Given the description of an element on the screen output the (x, y) to click on. 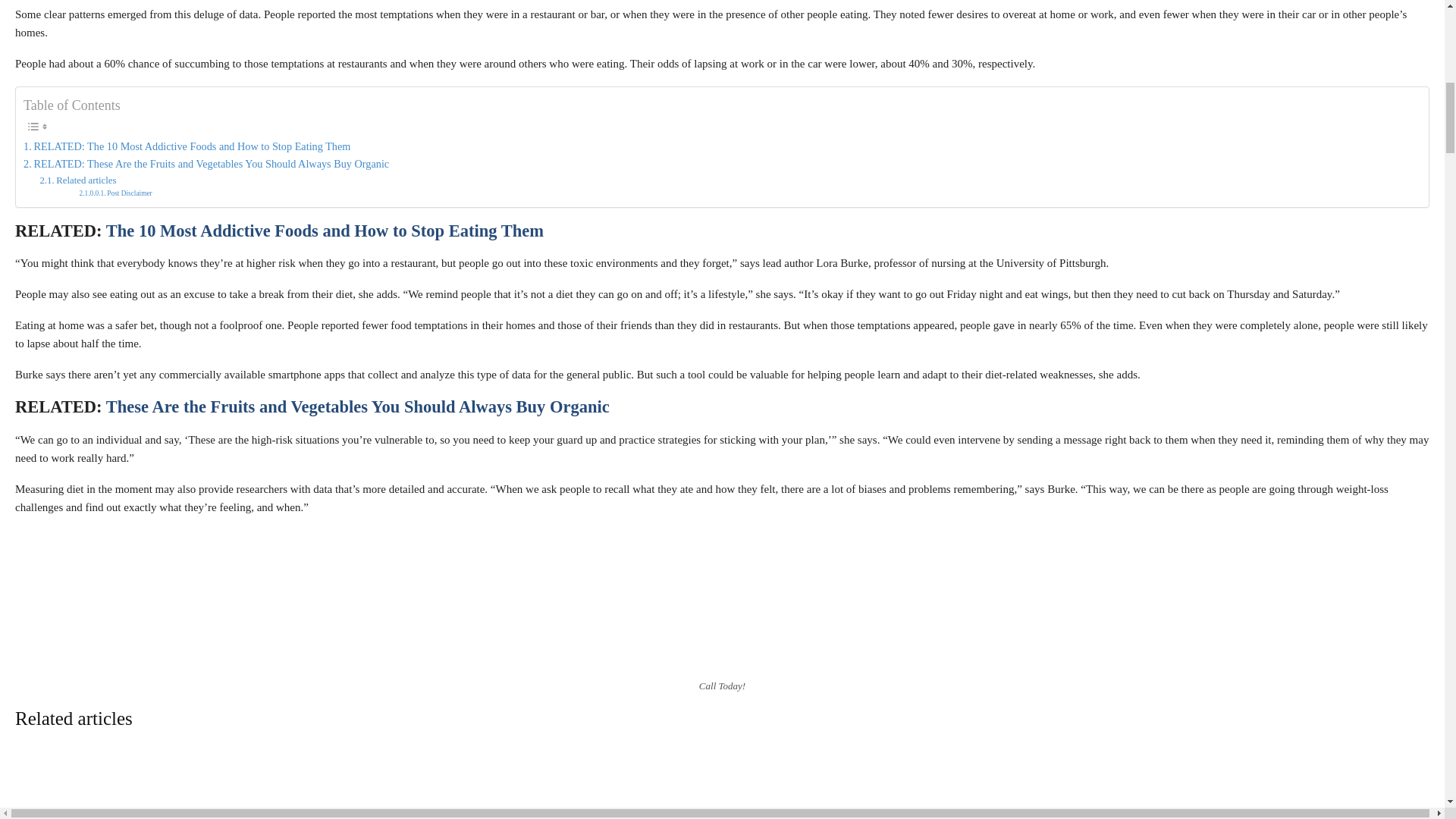
Post Disclaimer (114, 193)
Related articles (77, 180)
